Given the description of an element on the screen output the (x, y) to click on. 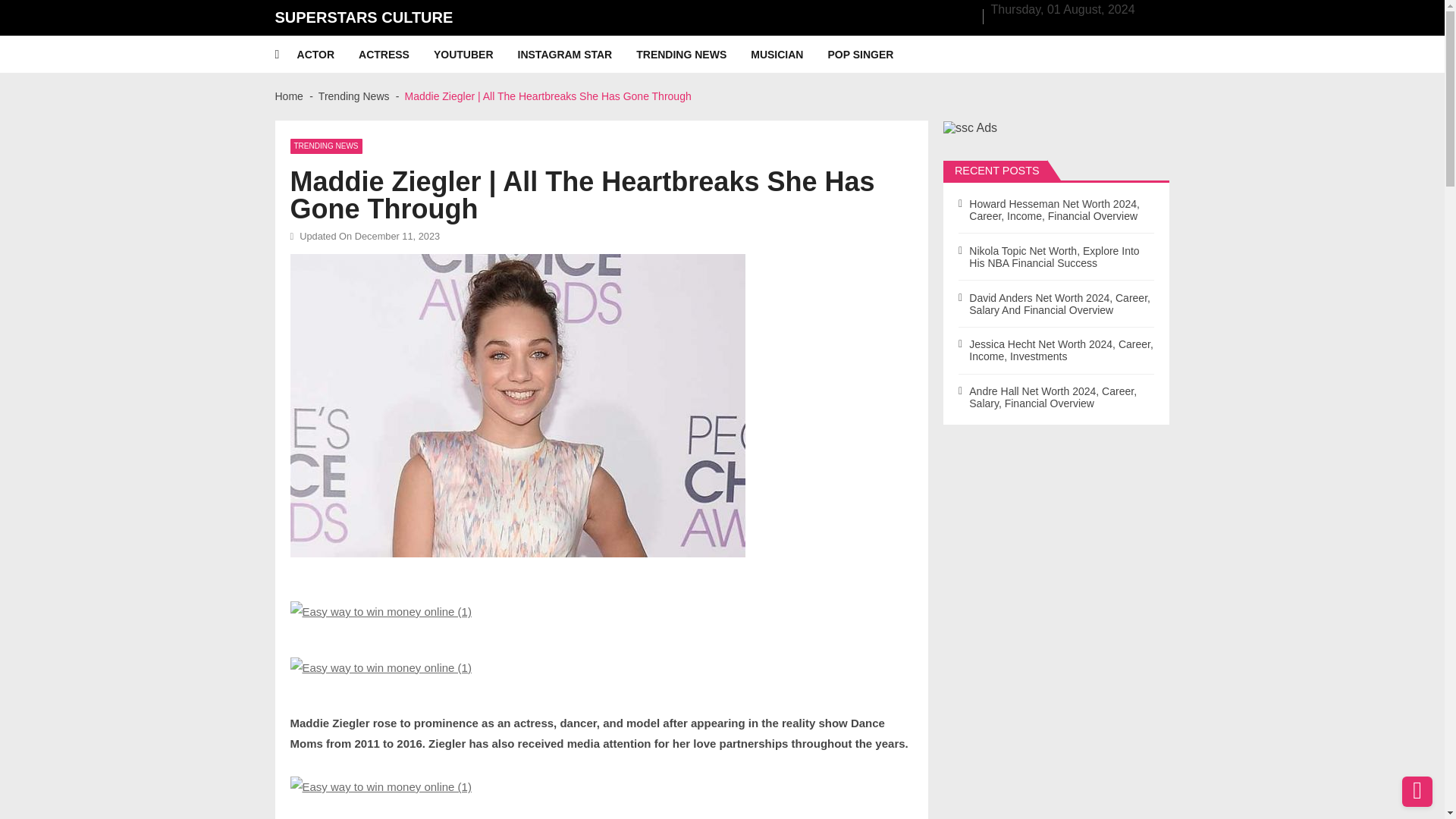
POP SINGER (872, 54)
Home (288, 96)
SUPERSTARS CULTURE (363, 17)
YOUTUBER (475, 54)
INSTAGRAM STAR (577, 54)
ACTRESS (395, 54)
ACTOR (328, 54)
TRENDING NEWS (325, 145)
Trending News (354, 96)
MUSICIAN (789, 54)
TRENDING NEWS (693, 54)
